Given the description of an element on the screen output the (x, y) to click on. 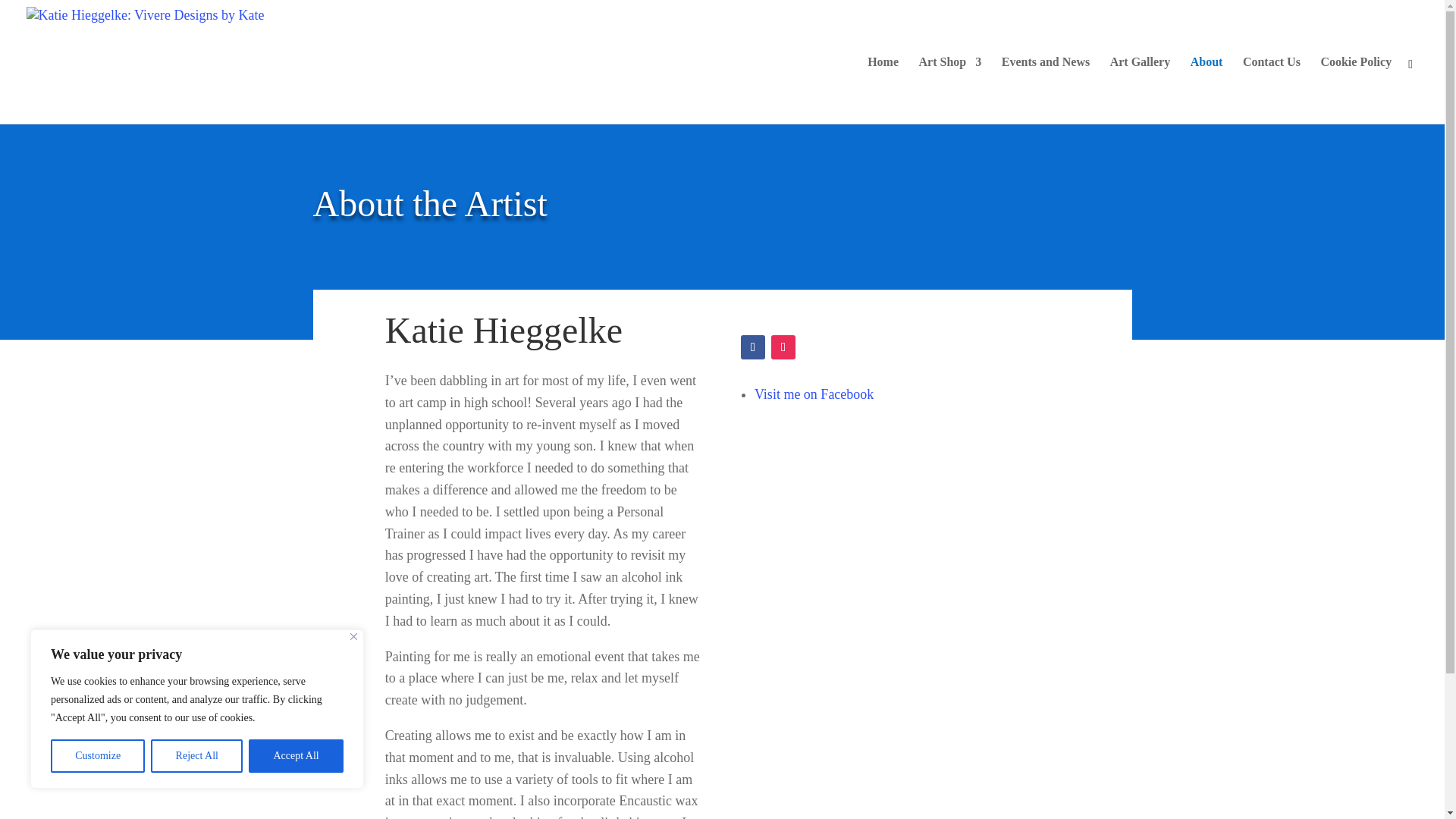
Customize (97, 756)
Art Shop (949, 90)
Reject All (197, 756)
Accept All (295, 756)
Follow on Instagram (782, 346)
Follow on Facebook (753, 346)
